Given the description of an element on the screen output the (x, y) to click on. 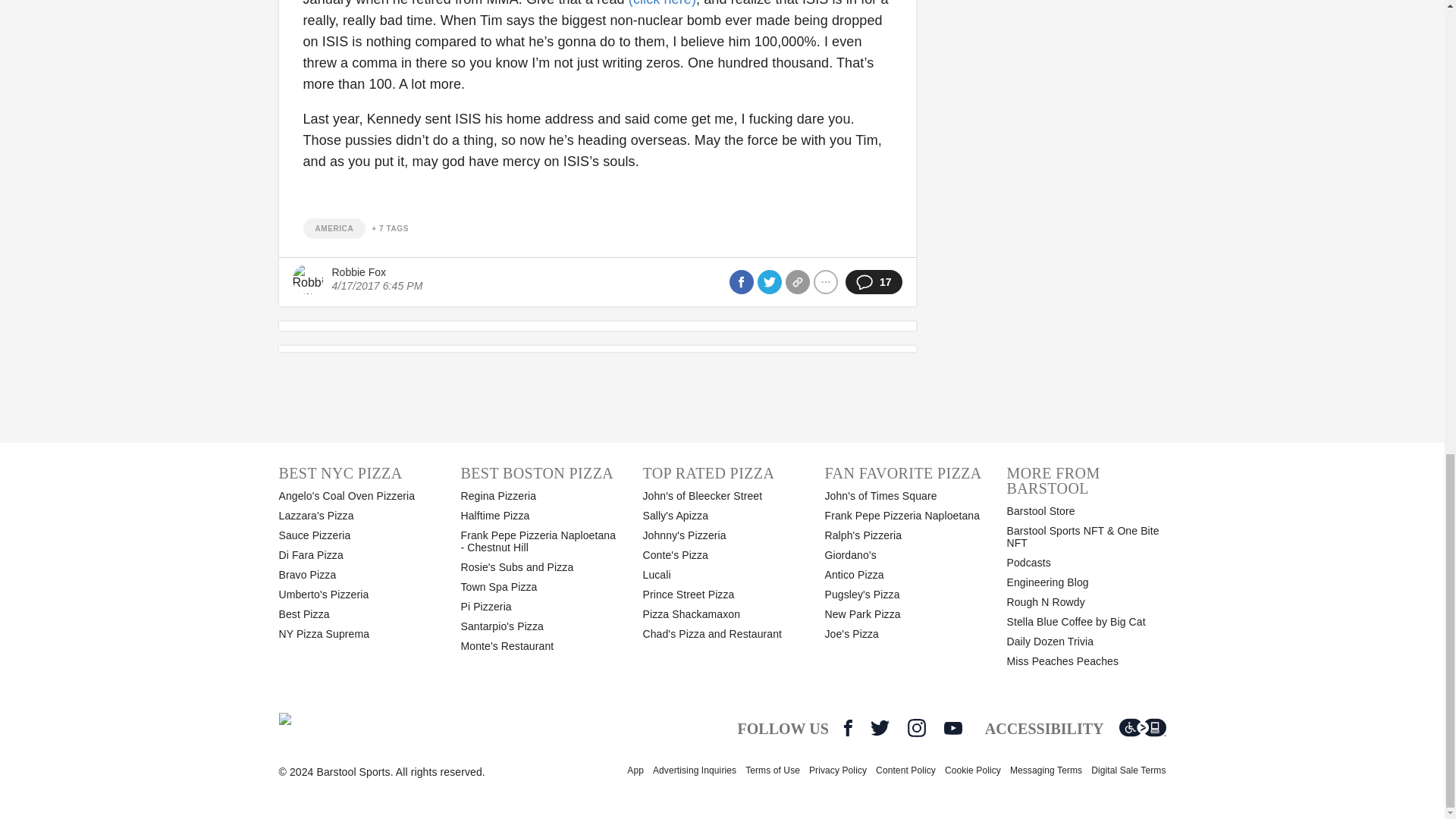
Instagram Icon (916, 728)
YouTube Icon (952, 728)
Twitter Icon (879, 728)
Facebook Icon (847, 728)
Level Access website accessibility icon (1142, 727)
